Given the description of an element on the screen output the (x, y) to click on. 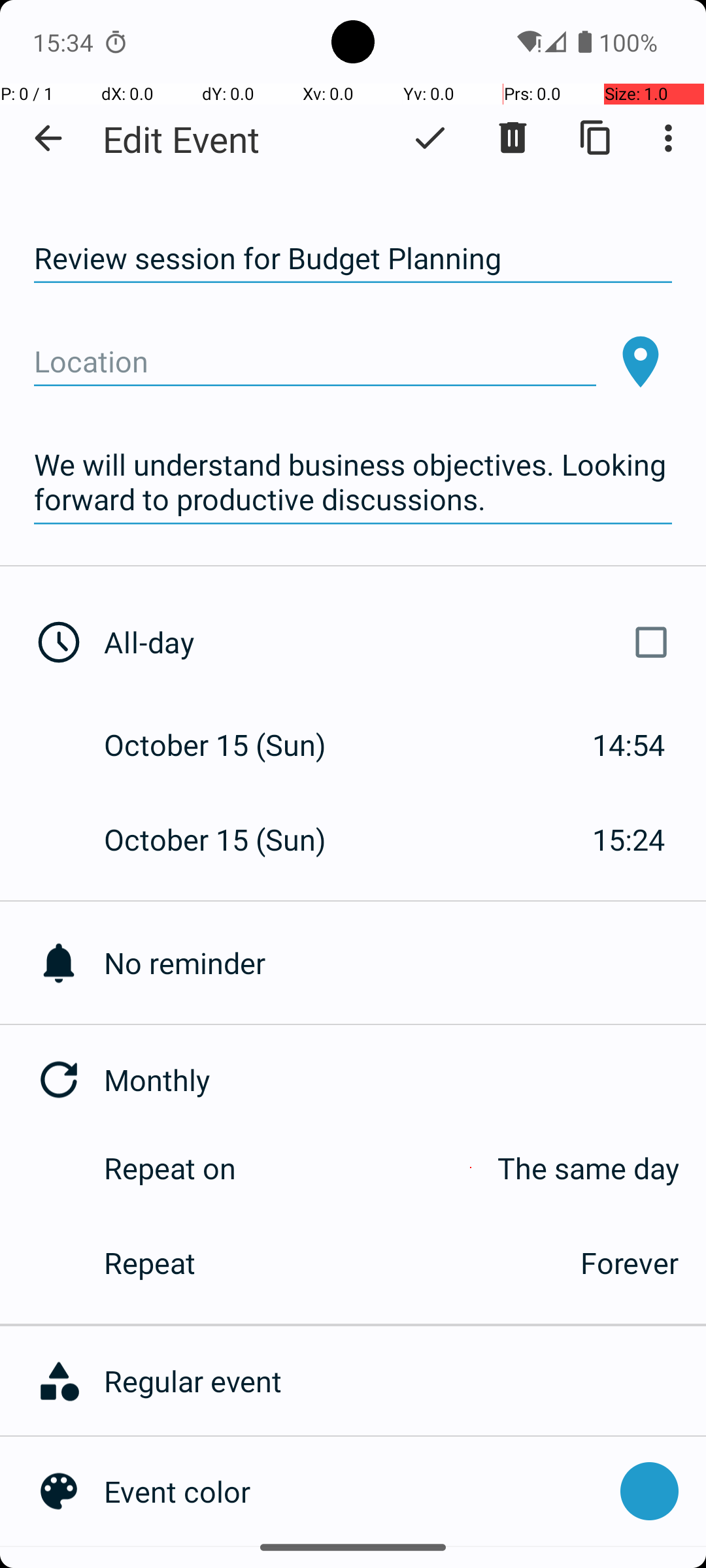
We will understand business objectives. Looking forward to productive discussions. Element type: android.widget.EditText (352, 482)
14:54 Element type: android.widget.TextView (628, 744)
15:24 Element type: android.widget.TextView (628, 838)
Repeat on Element type: android.widget.TextView (169, 1167)
The same day Element type: android.widget.TextView (470, 1167)
Repeat Element type: android.widget.TextView (328, 1262)
Forever Element type: android.widget.TextView (629, 1262)
